Given the description of an element on the screen output the (x, y) to click on. 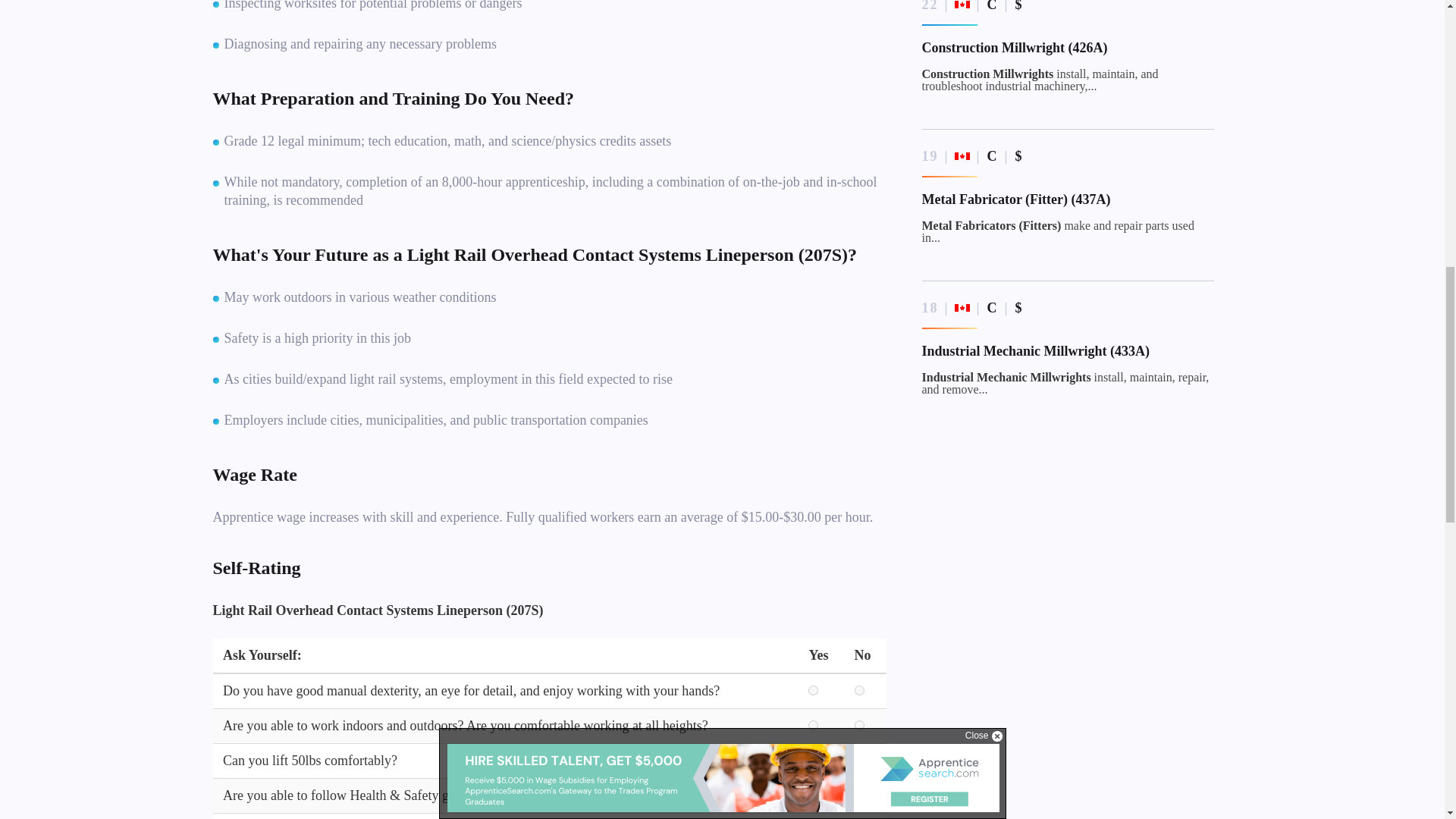
on (813, 795)
on (813, 690)
on (813, 725)
on (858, 795)
on (813, 759)
on (858, 690)
on (858, 759)
on (858, 725)
